Given the description of an element on the screen output the (x, y) to click on. 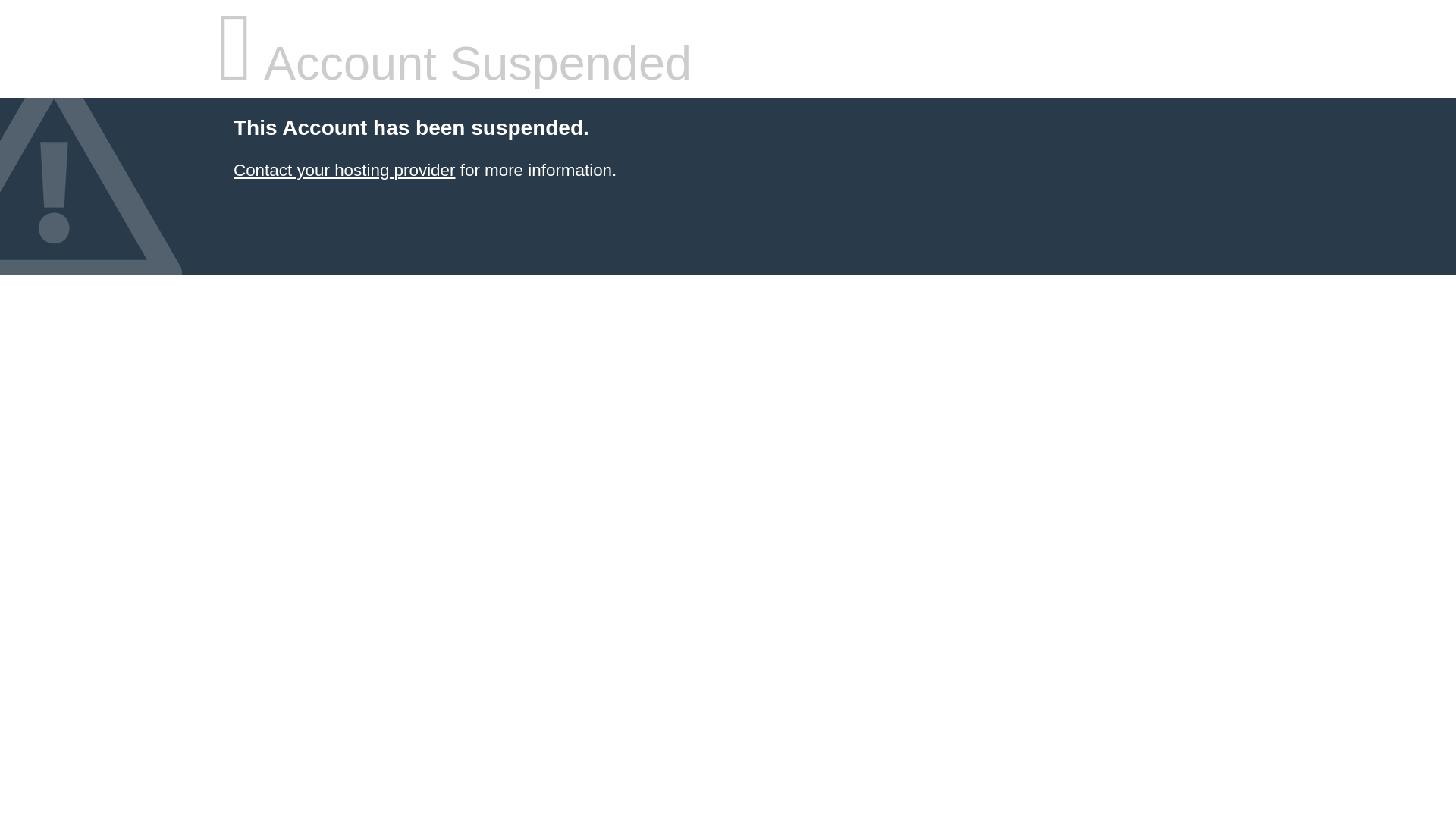
Contact your hosting provider (343, 169)
